Given the description of an element on the screen output the (x, y) to click on. 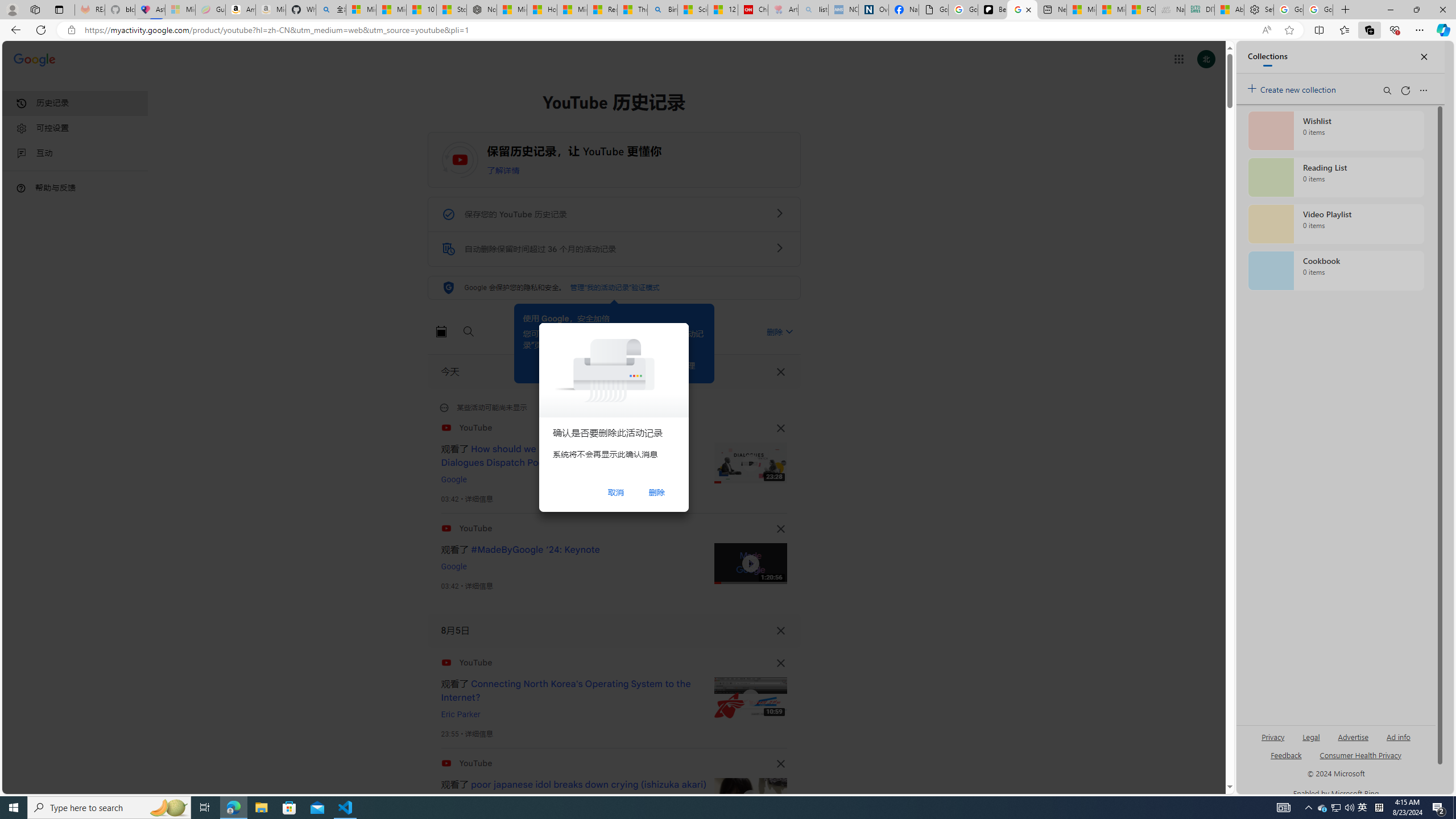
Bing (662, 9)
App bar (728, 29)
Stocks - MSN (450, 9)
list of asthma inhalers uk - Search - Sleeping (812, 9)
Navy Quest (1169, 9)
AutomationID: sb_feedback (1286, 754)
New tab (1051, 9)
Aberdeen, Hong Kong SAR hourly forecast | Microsoft Weather (1229, 9)
NCL Adult Asthma Inhaler Choice Guideline - Sleeping (843, 9)
